Given the description of an element on the screen output the (x, y) to click on. 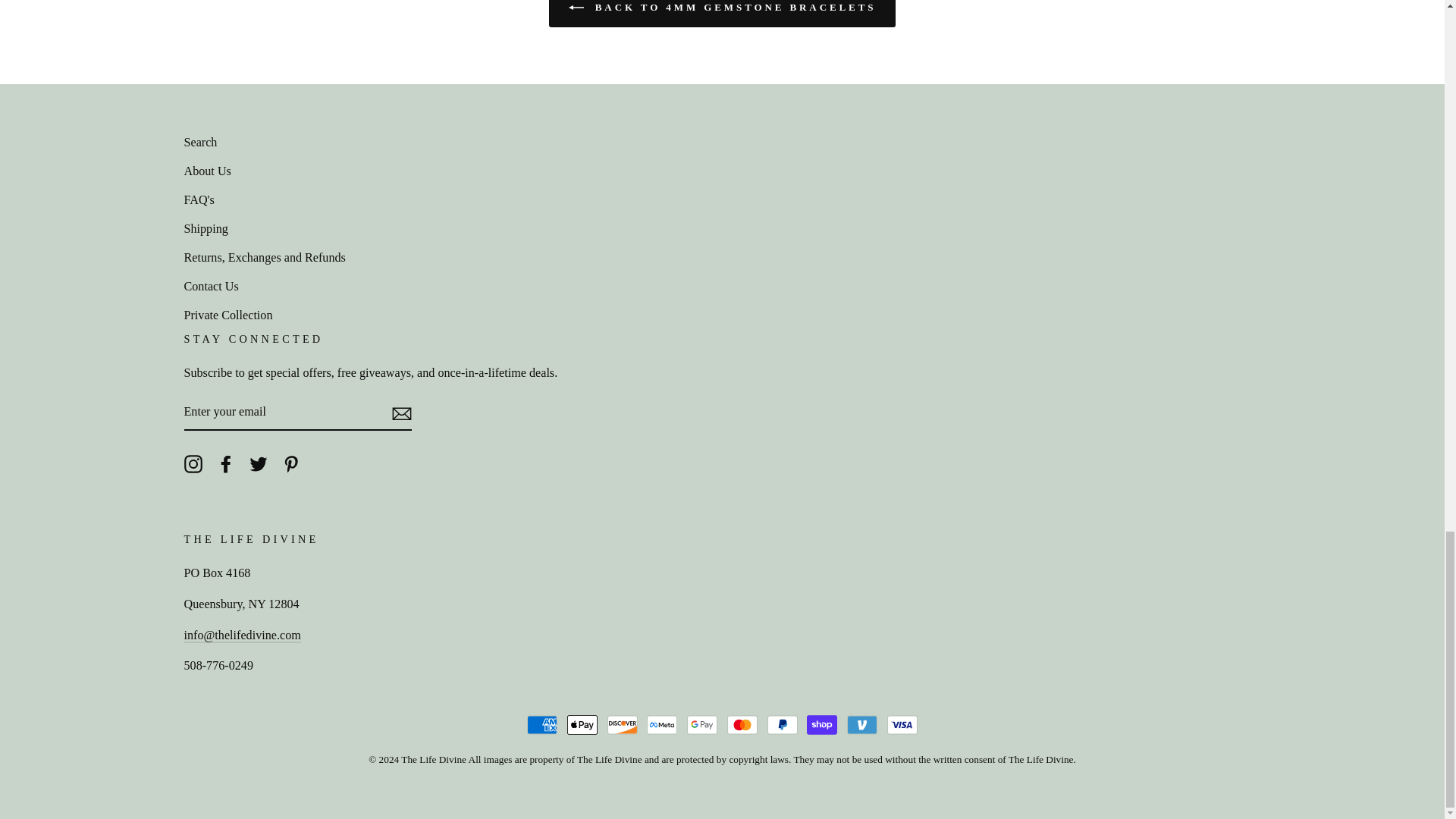
American Express (542, 725)
The Life Divine on Facebook (225, 463)
Contact Us (241, 635)
The Life Divine on Pinterest (290, 463)
The Life Divine on Twitter (257, 463)
The Life Divine on Instagram (192, 463)
